Given the description of an element on the screen output the (x, y) to click on. 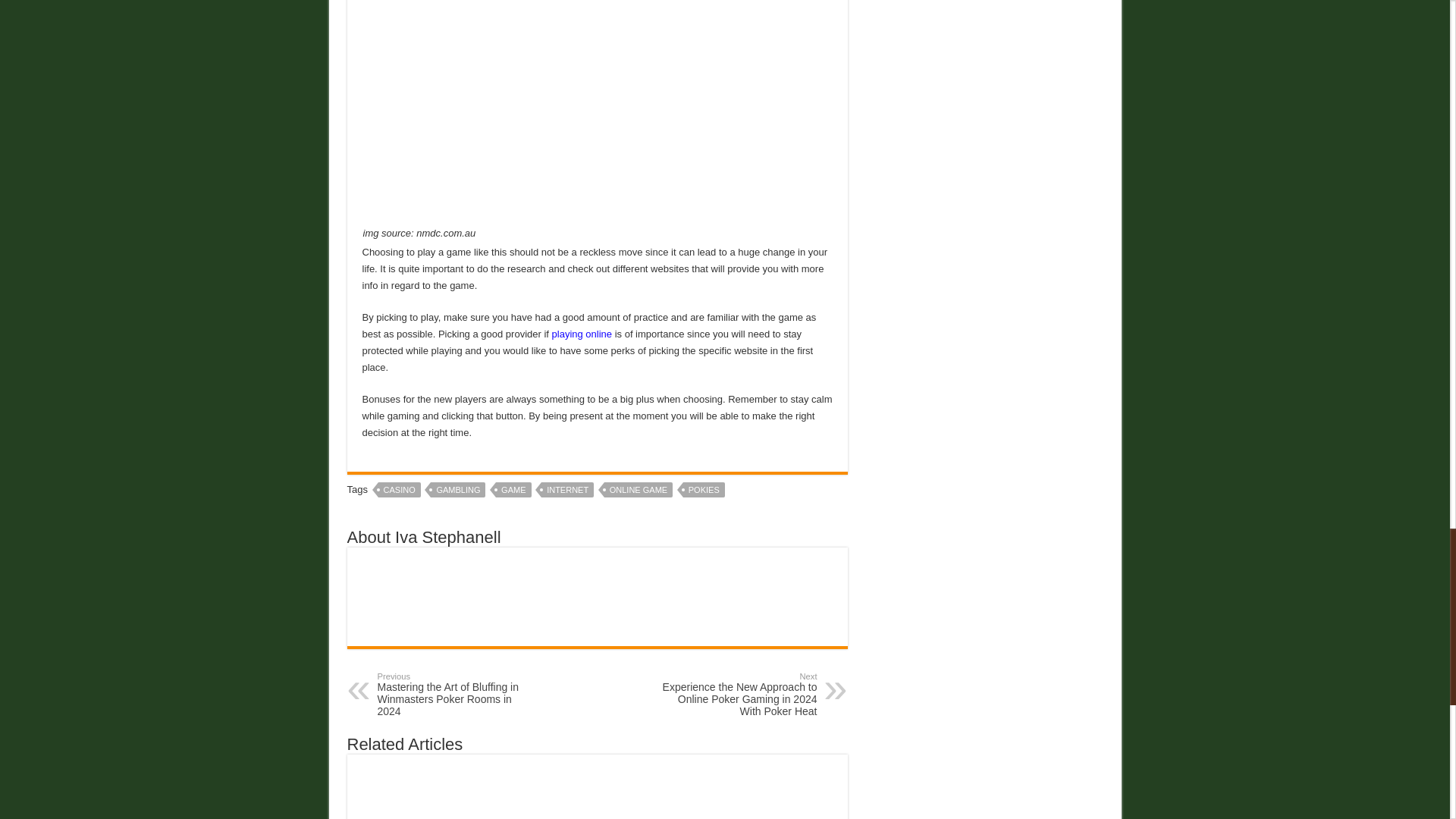
ONLINE GAME (638, 489)
CASINO (399, 489)
INTERNET (567, 489)
GAME (513, 489)
GAMBLING (457, 489)
playing online (581, 333)
POKIES (703, 489)
